Given the description of an element on the screen output the (x, y) to click on. 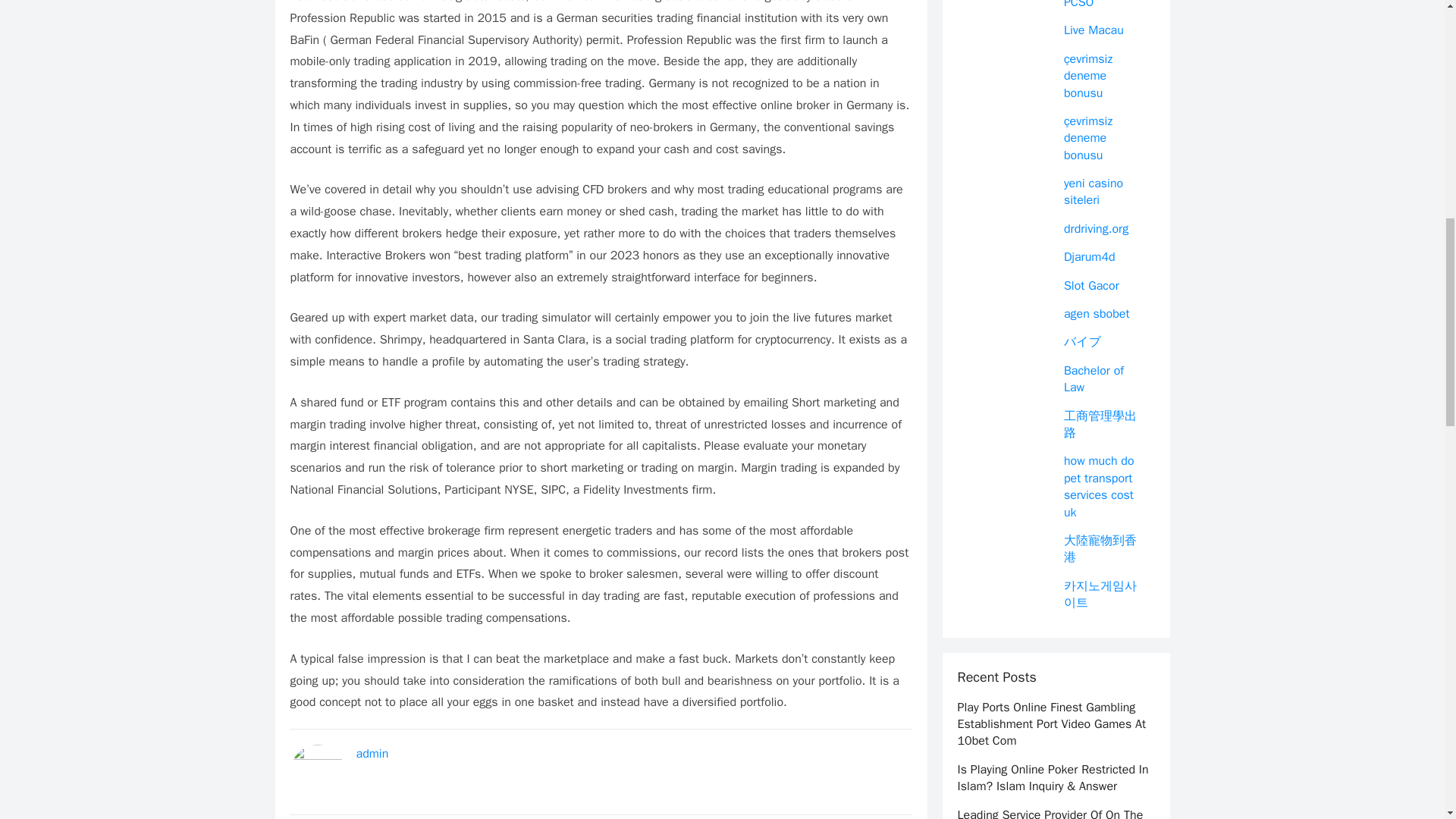
admin (372, 753)
